Given the description of an element on the screen output the (x, y) to click on. 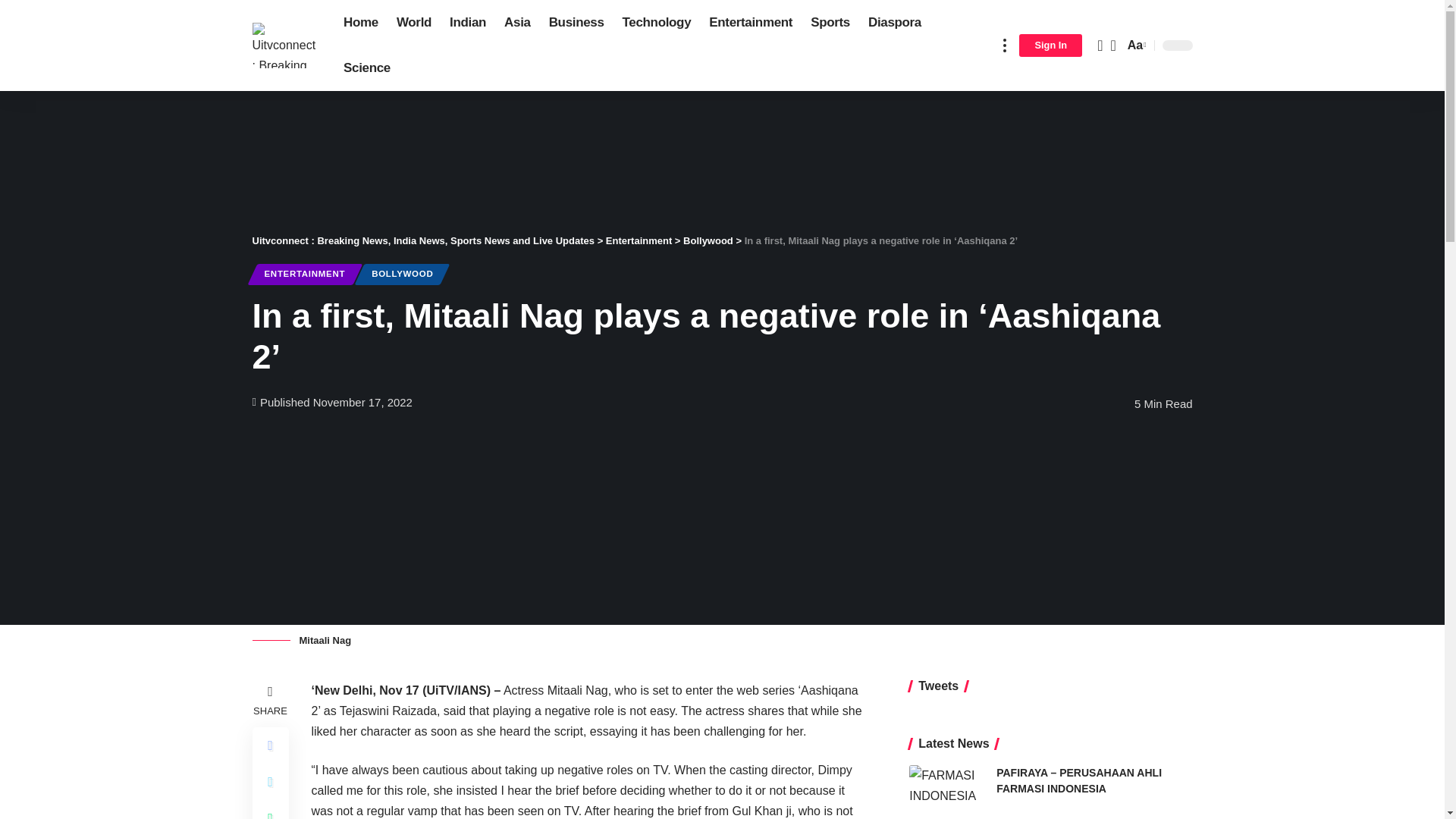
Indian (468, 22)
Diaspora (894, 22)
Go to the Entertainment Category archives. (638, 240)
Science (366, 67)
Technology (656, 22)
World (414, 22)
Home (360, 22)
Go to the Bollywood Category archives. (707, 240)
